Given the description of an element on the screen output the (x, y) to click on. 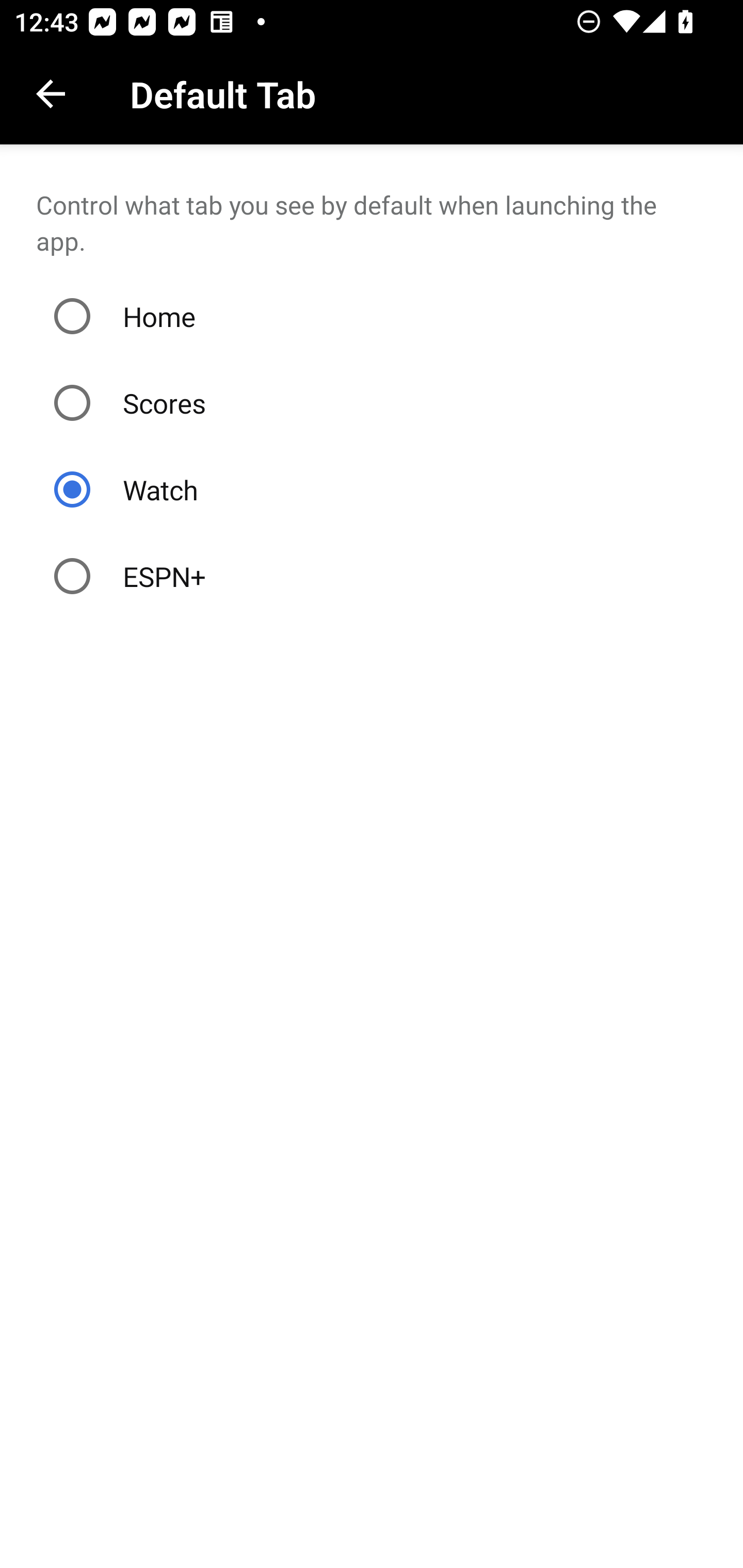
back.button (50, 93)
